Given the description of an element on the screen output the (x, y) to click on. 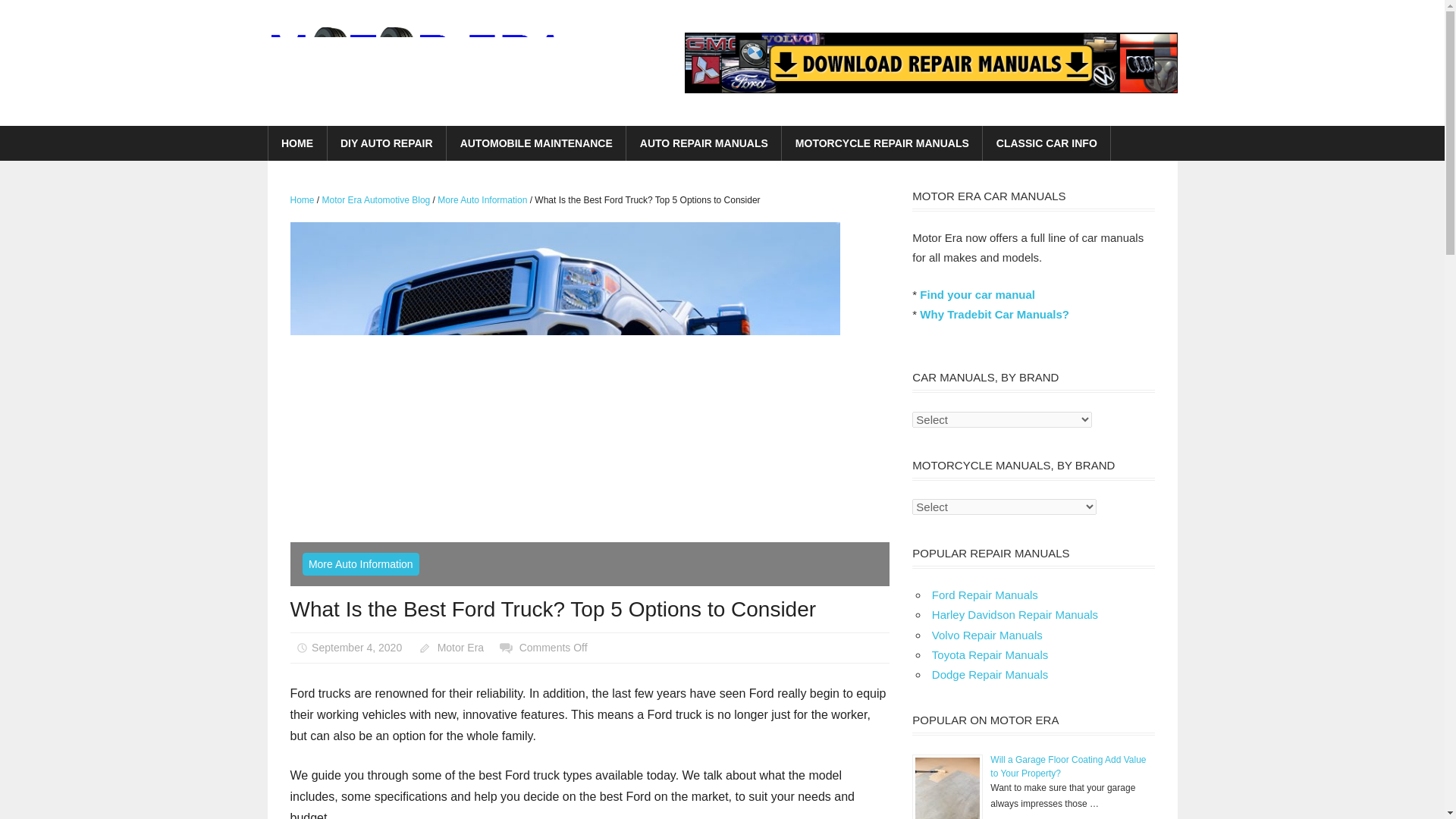
AUTOMOBILE MAINTENANCE (536, 143)
Motor Era Automotive Blog (375, 199)
Toyota Repair Manuals (989, 654)
MOTORCYCLE REPAIR MANUALS (881, 143)
AUTO REPAIR MANUALS (703, 143)
Dodge Repair Manuals (989, 674)
September 4, 2020 (356, 647)
CLASSIC CAR INFO (1046, 143)
Home (301, 199)
Why Tradebit Car Manuals? (994, 314)
More Auto Information (360, 563)
Harley Davidson Repair Manuals (1014, 614)
View all posts by Motor Era (460, 647)
HOME (297, 143)
Find your car manual (977, 294)
